Given the description of an element on the screen output the (x, y) to click on. 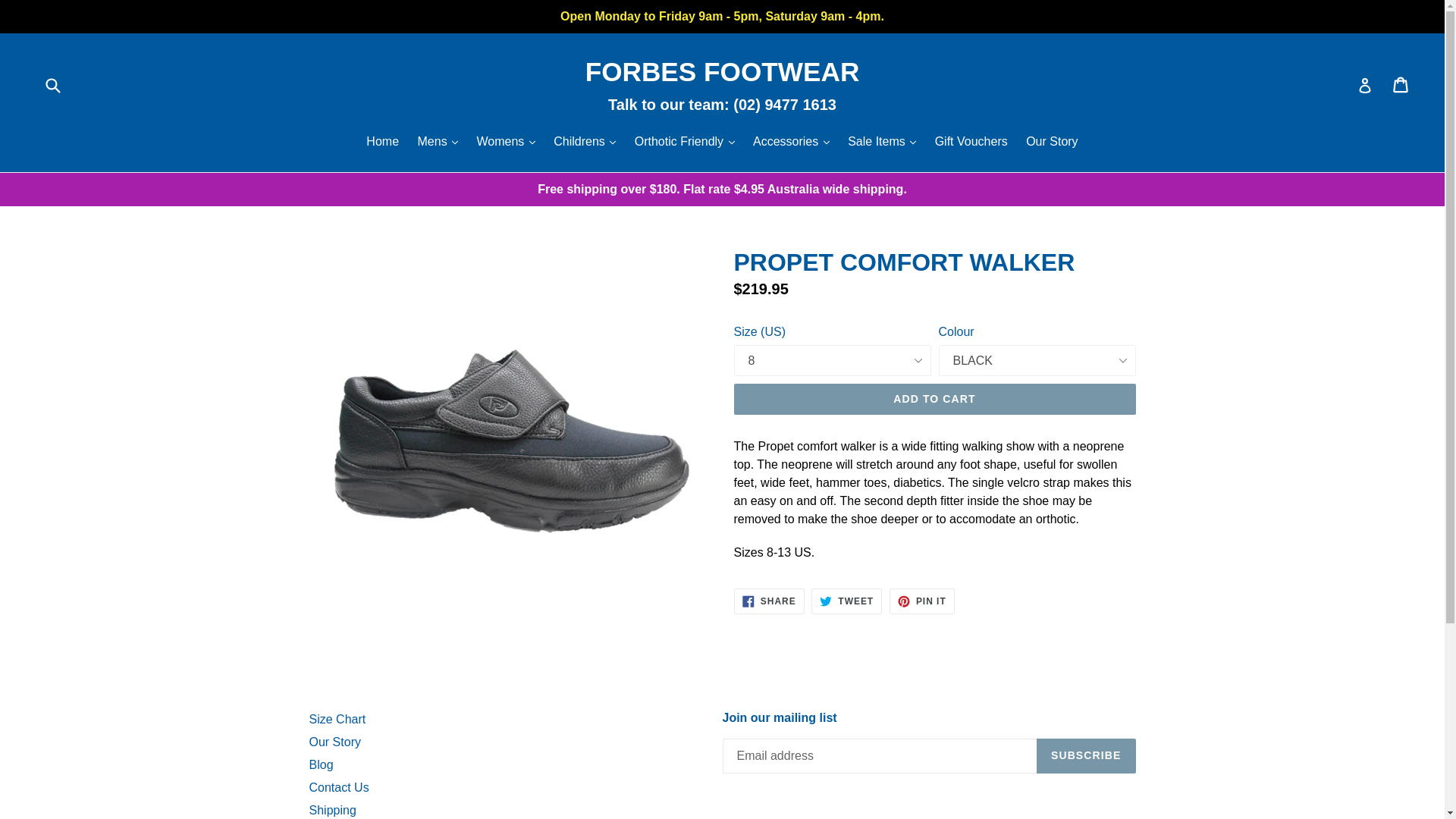
Pin on Pinterest (922, 601)
Share on Facebook (769, 601)
Tweet on Twitter (846, 601)
